Given the description of an element on the screen output the (x, y) to click on. 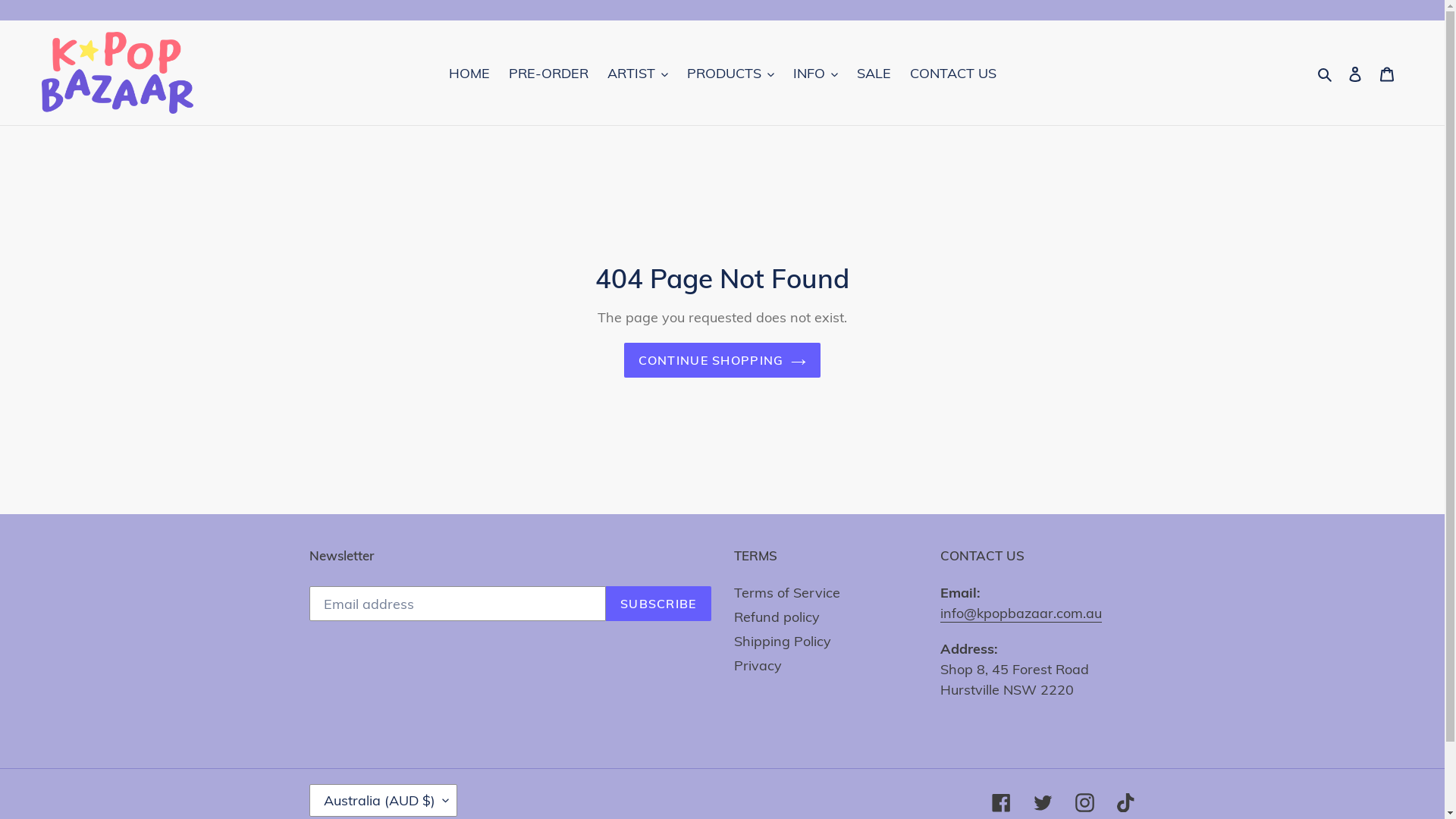
Cart Element type: text (1386, 73)
Shipping Policy Element type: text (782, 641)
SALE Element type: text (873, 72)
INFO Element type: text (815, 72)
Australia (AUD $) Element type: text (383, 800)
Log in Element type: text (1355, 73)
PRODUCTS Element type: text (730, 72)
CONTINUE SHOPPING Element type: text (722, 359)
ARTIST Element type: text (636, 72)
info@kpopbazaar.com.au Element type: text (1020, 614)
Instagram Element type: text (1084, 801)
Twitter Element type: text (1041, 801)
Terms of Service Element type: text (787, 593)
Tiktok Element type: text (1125, 801)
SUBSCRIBE Element type: text (658, 603)
HOME Element type: text (469, 72)
Search Element type: text (1325, 73)
CONTACT US Element type: text (953, 72)
Privacy Element type: text (757, 665)
Facebook Element type: text (1000, 801)
PRE-ORDER Element type: text (547, 72)
Refund policy Element type: text (776, 617)
